Given the description of an element on the screen output the (x, y) to click on. 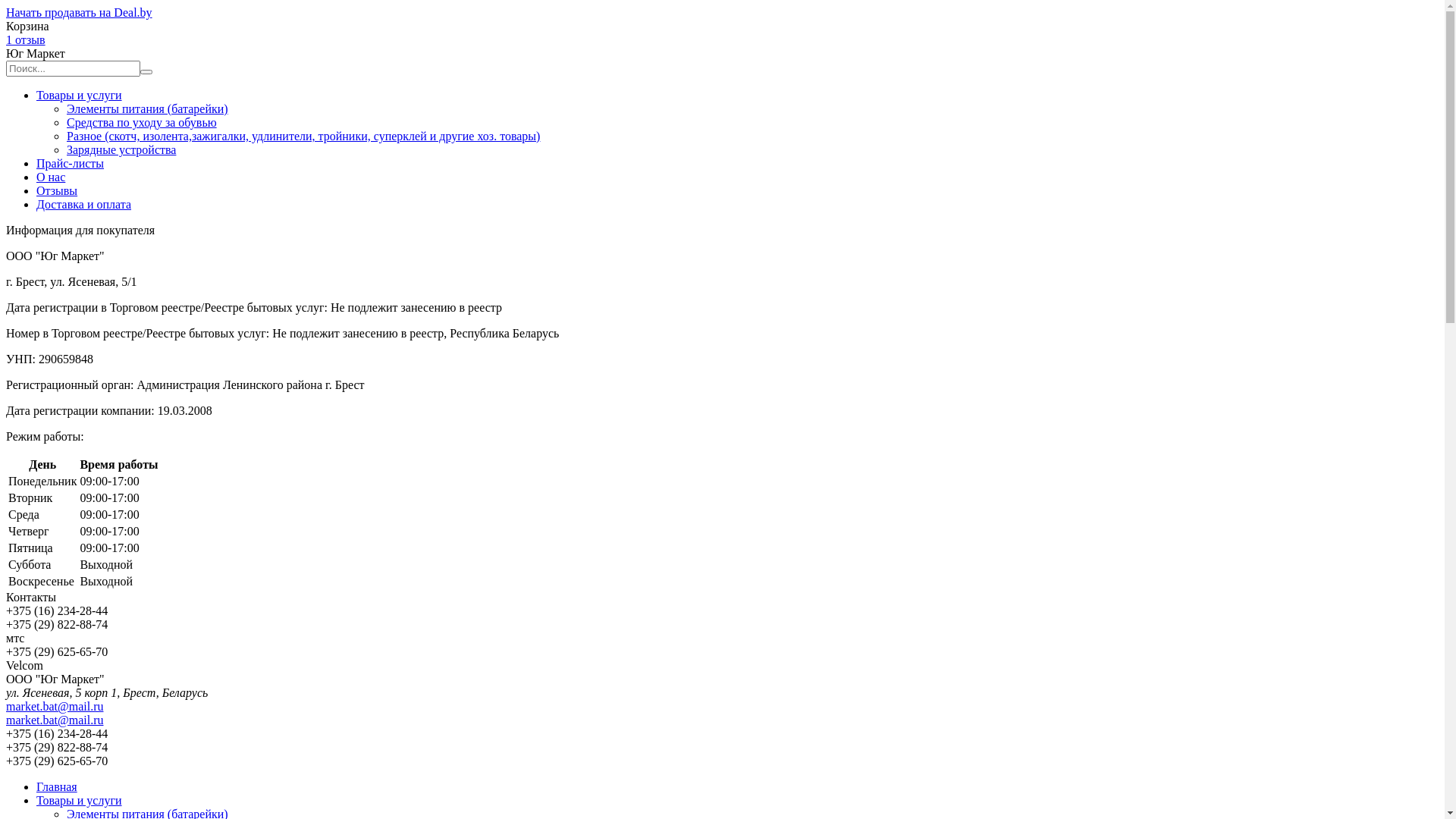
market.bat@mail.ru Element type: text (54, 705)
market.bat@mail.ru Element type: text (54, 719)
